Given the description of an element on the screen output the (x, y) to click on. 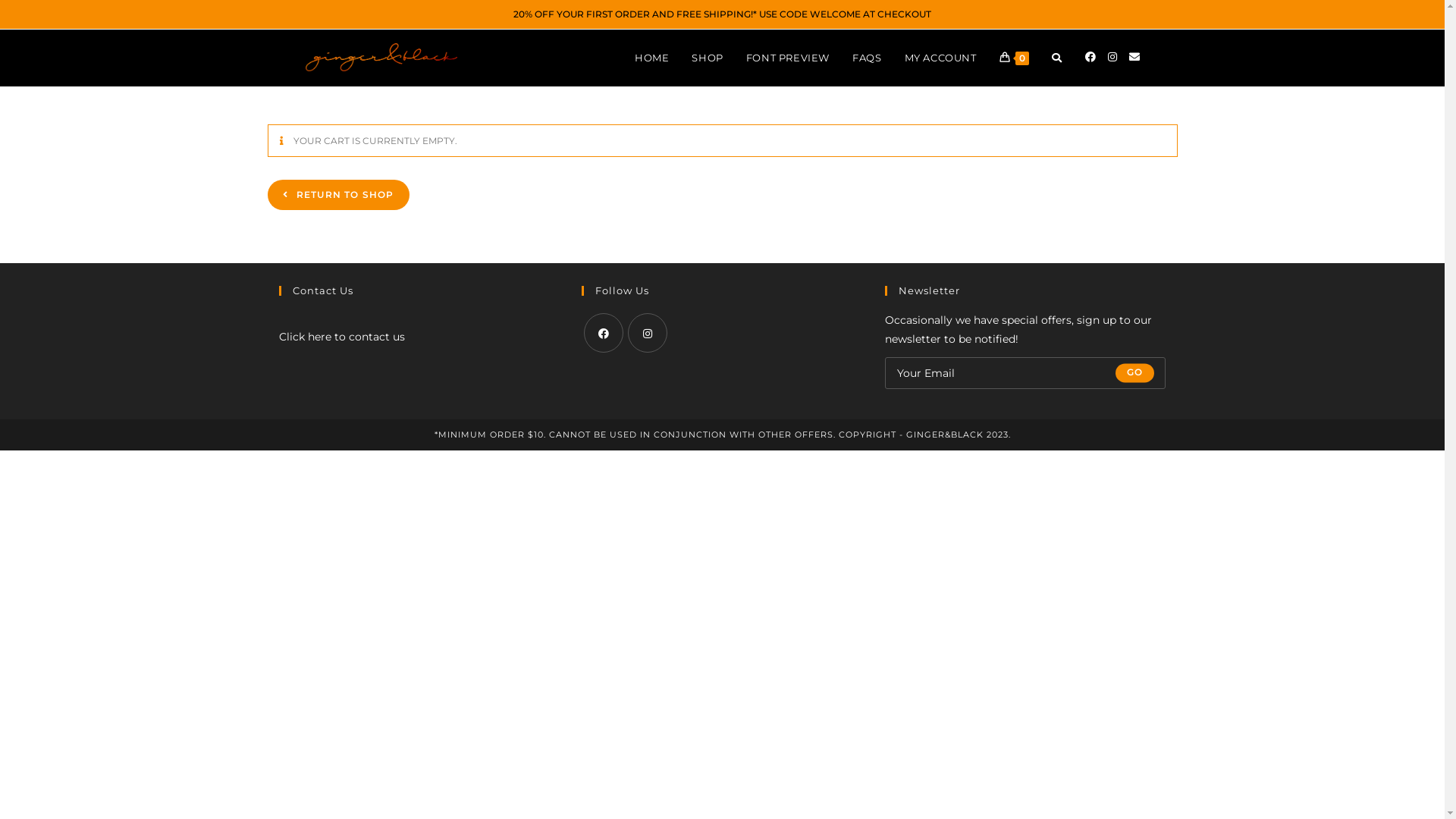
TOGGLE WEBSITE SEARCH Element type: text (1056, 57)
RETURN TO SHOP Element type: text (337, 194)
GO Element type: text (1134, 372)
SHOP Element type: text (707, 57)
FAQS Element type: text (866, 57)
Click here to contact us Element type: text (341, 336)
0 Element type: text (1013, 57)
FONT PREVIEW Element type: text (787, 57)
HOME Element type: text (651, 57)
MY ACCOUNT Element type: text (940, 57)
